Given the description of an element on the screen output the (x, y) to click on. 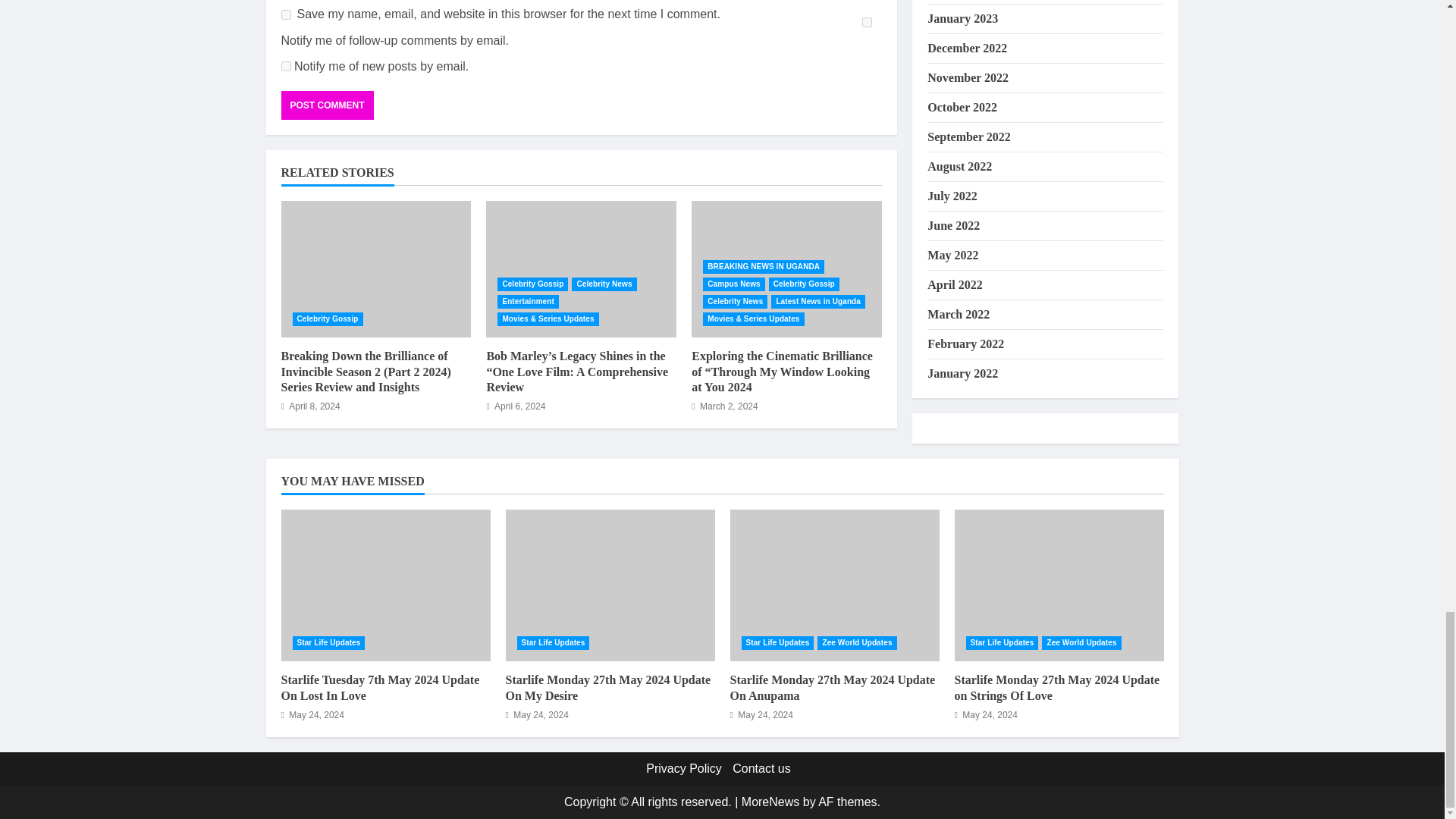
Post Comment (326, 104)
subscribe (866, 22)
yes (285, 14)
subscribe (285, 66)
